Given the description of an element on the screen output the (x, y) to click on. 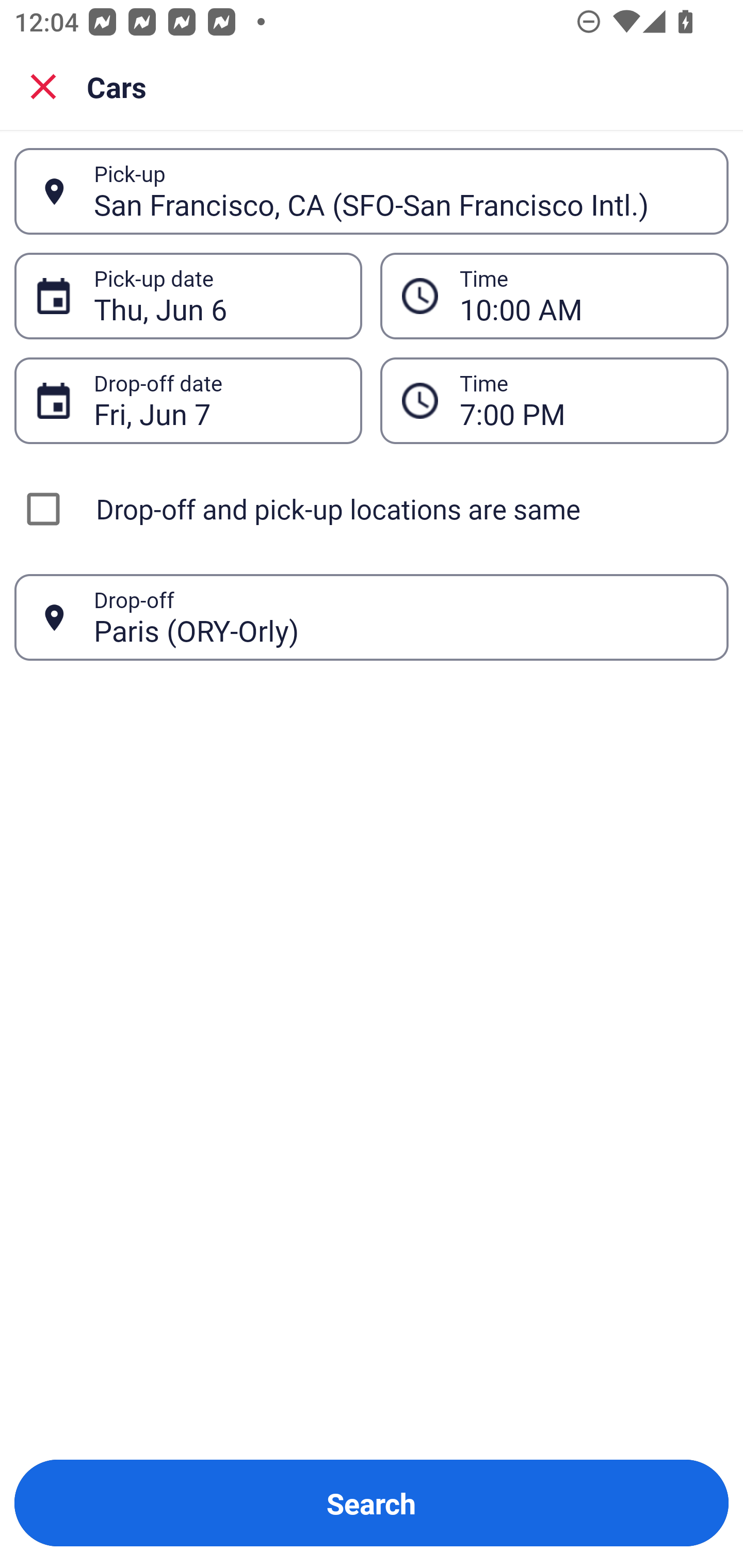
Close search screen (43, 86)
San Francisco, CA (SFO-San Francisco Intl.) (399, 191)
Thu, Jun 6 Pick-up date (188, 295)
10:00 AM (554, 295)
Thu, Jun 6 (216, 296)
10:00 AM (582, 296)
Fri, Jun 7 Drop-off date (188, 400)
7:00 PM (554, 400)
Fri, Jun 7 (216, 400)
7:00 PM (582, 400)
Drop-off and pick-up locations are same (371, 508)
Paris (ORY-Orly) Drop-off (371, 616)
Paris (ORY-Orly) (399, 616)
Search Button Search (371, 1502)
